Given the description of an element on the screen output the (x, y) to click on. 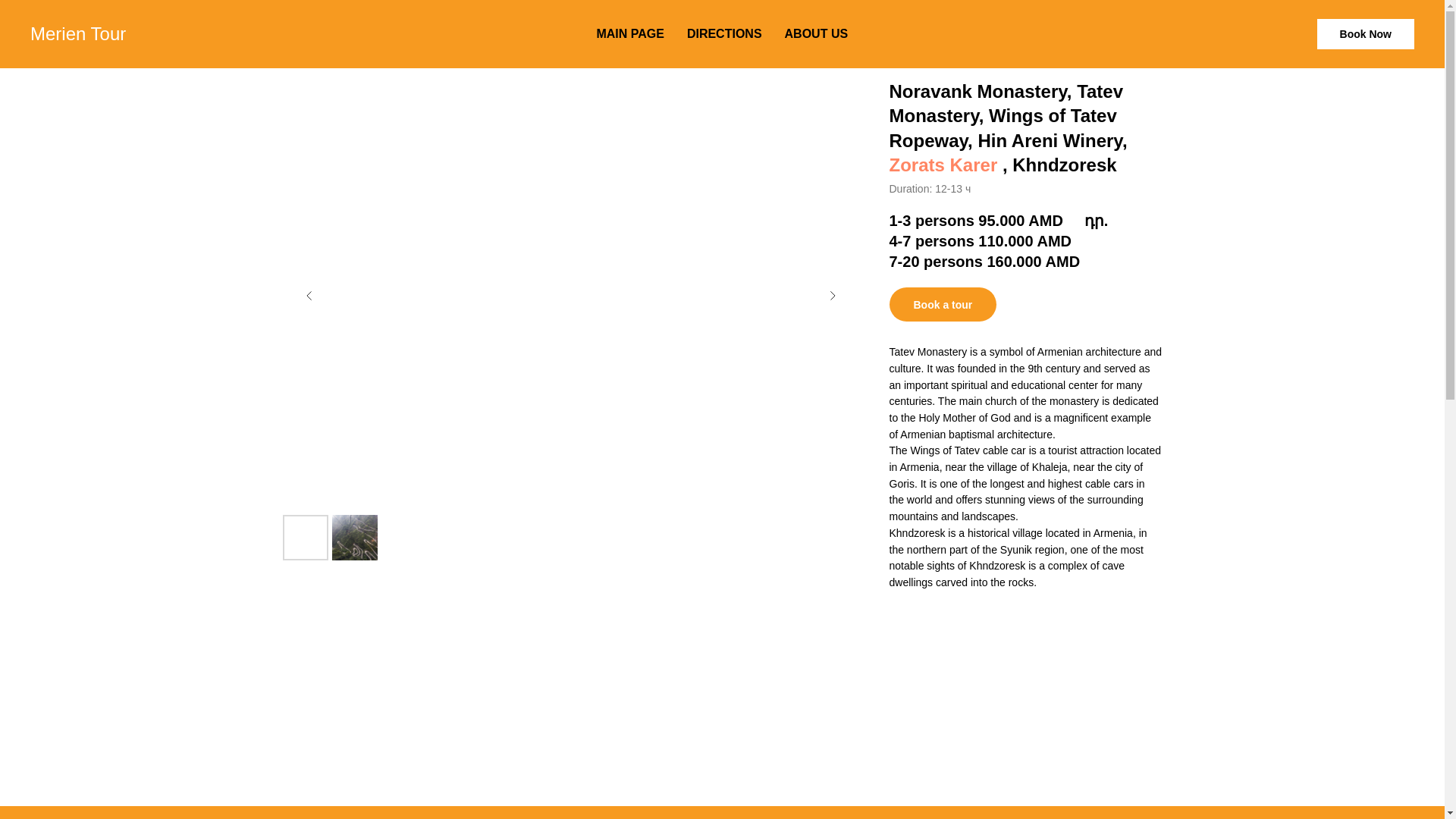
ABOUT US (816, 33)
Zorats Karer (942, 164)
Book a tour (941, 304)
MAIN PAGE (629, 33)
Book Now (1365, 33)
Merien Tour (89, 34)
DIRECTIONS (724, 33)
